Given the description of an element on the screen output the (x, y) to click on. 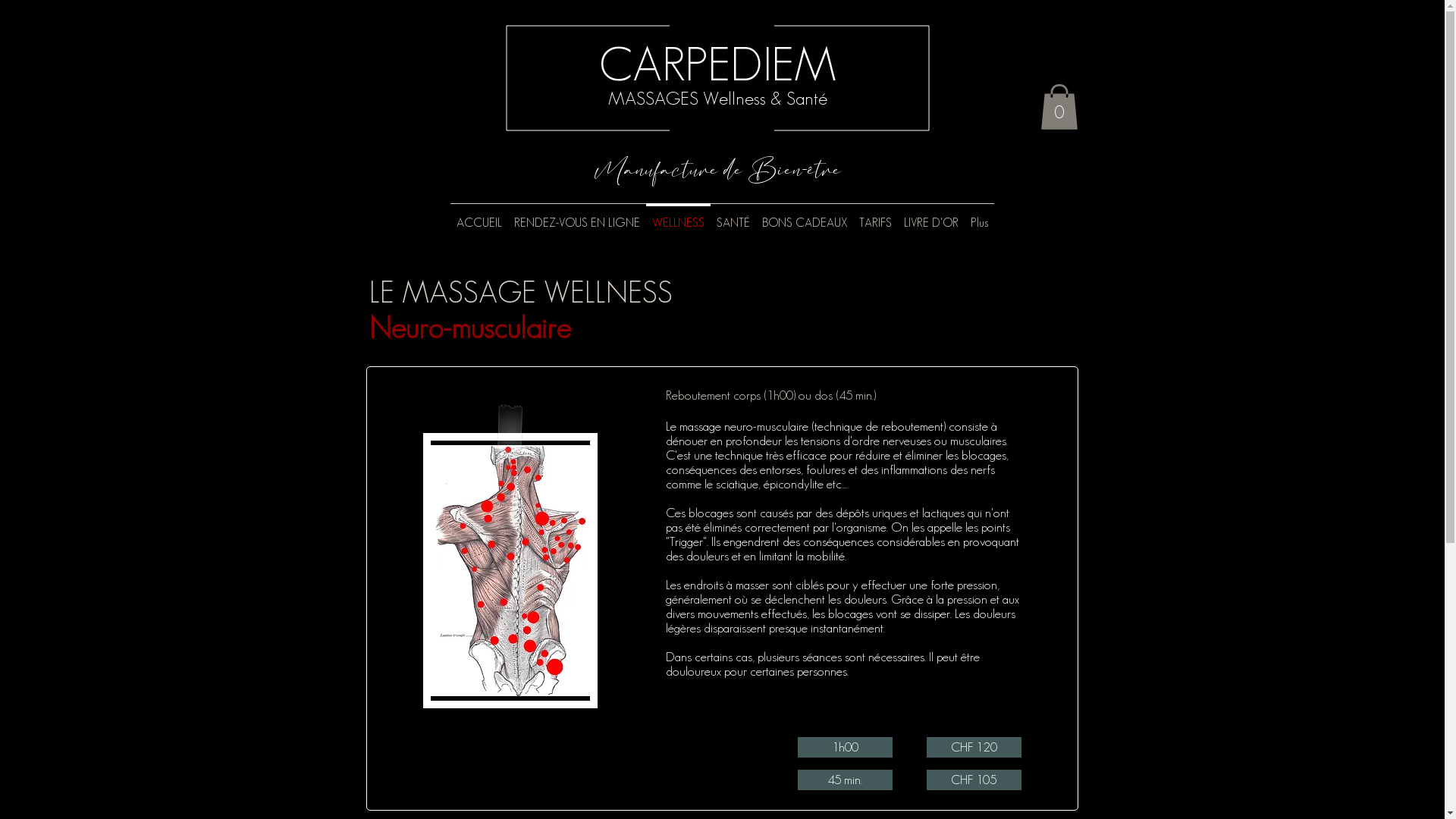
0 Element type: text (1059, 106)
CHF 120 Element type: text (973, 747)
RENDEZ-VOUS EN LIGNE Element type: text (577, 216)
MAS Element type: text (626, 97)
WELLNESS Element type: text (678, 216)
ACCUEIL Element type: text (479, 216)
CARPEDIEM Element type: text (717, 63)
CHF 105 Element type: text (973, 779)
LIVRE D'OR Element type: text (930, 216)
BONS CADEAUX Element type: text (803, 216)
TARIFS Element type: text (874, 216)
